Given the description of an element on the screen output the (x, y) to click on. 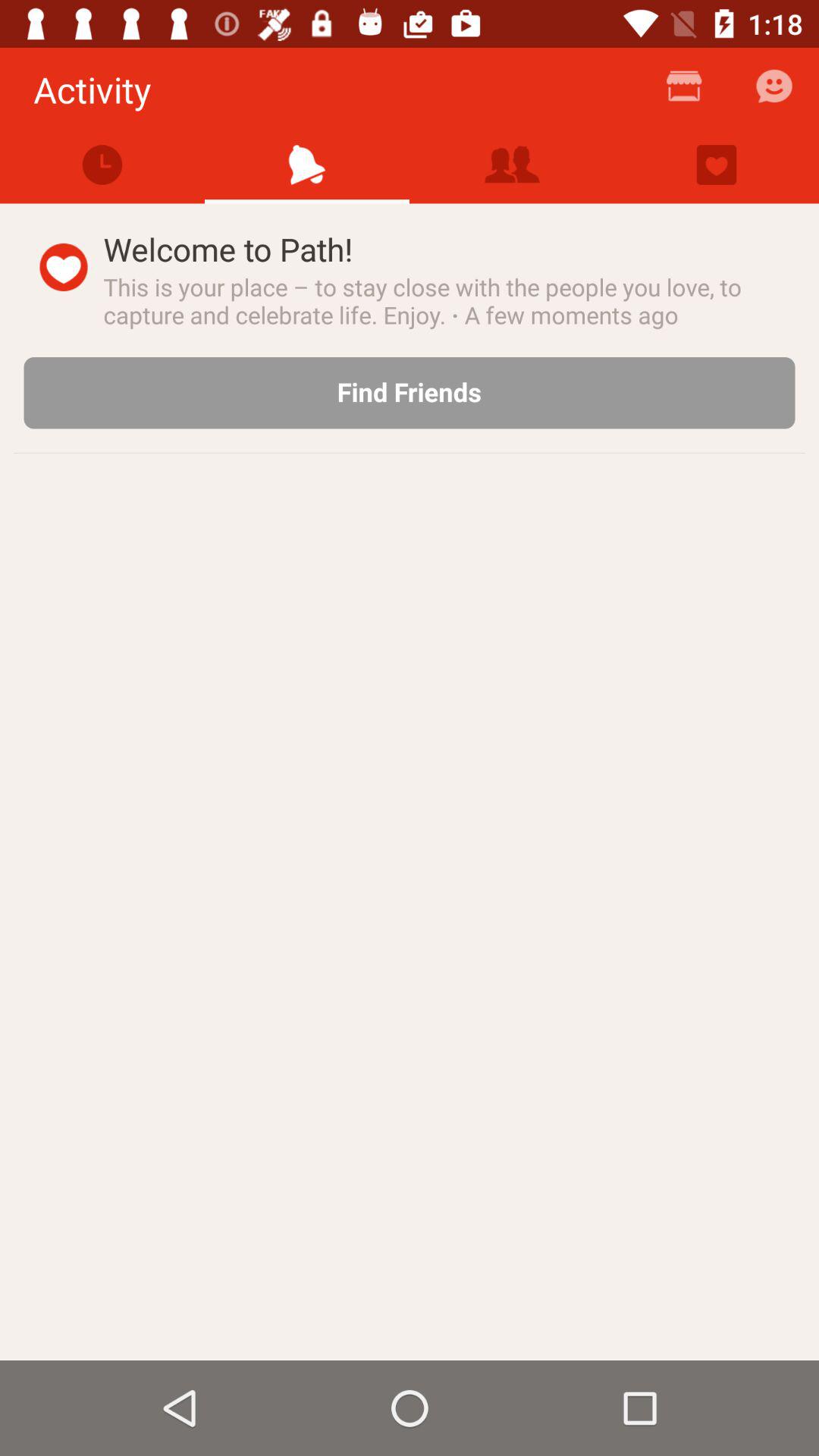
launch the item to the right of the activity (684, 92)
